Given the description of an element on the screen output the (x, y) to click on. 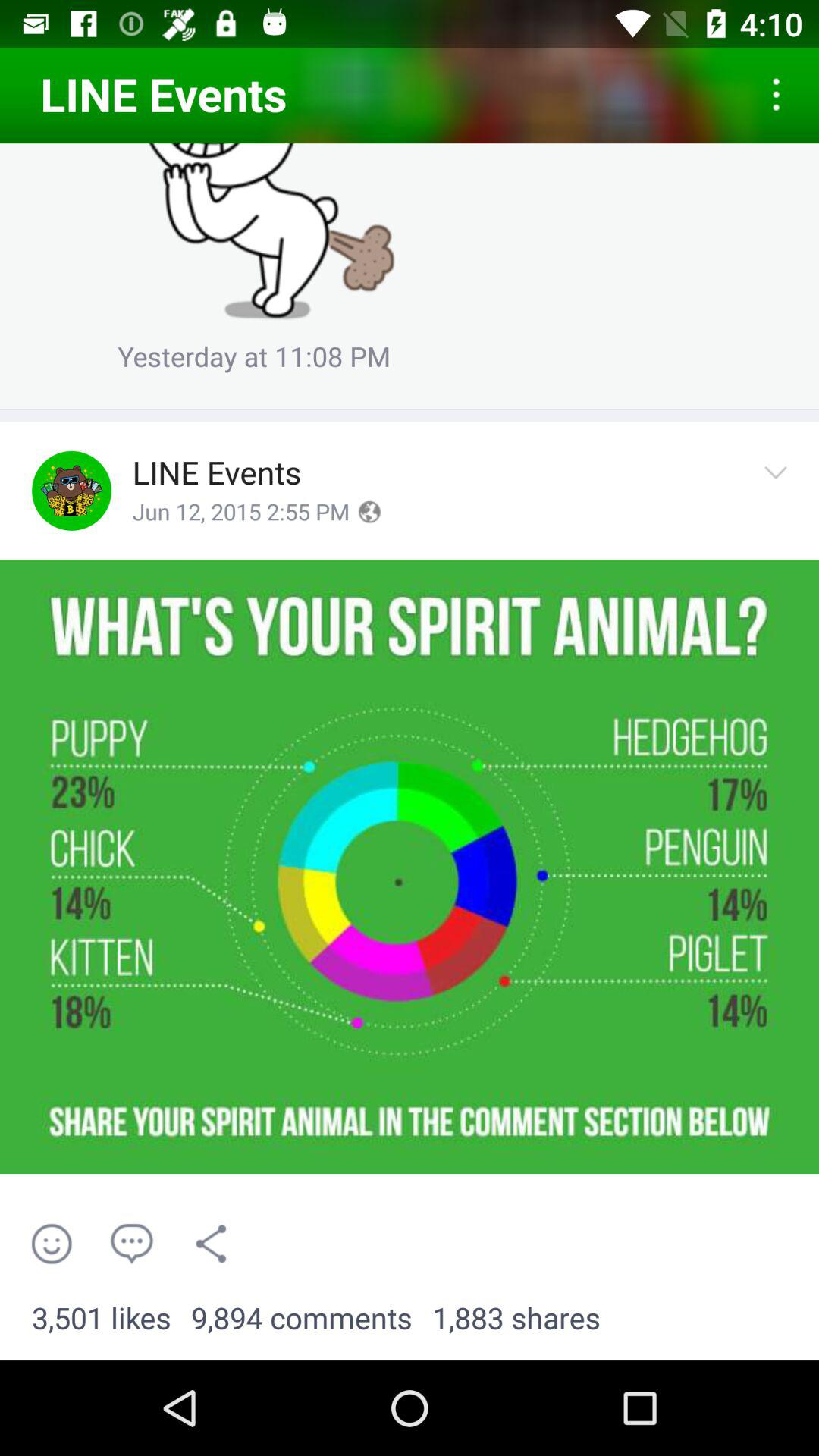
tap icon to the left of the 1,883 shares item (301, 1318)
